Given the description of an element on the screen output the (x, y) to click on. 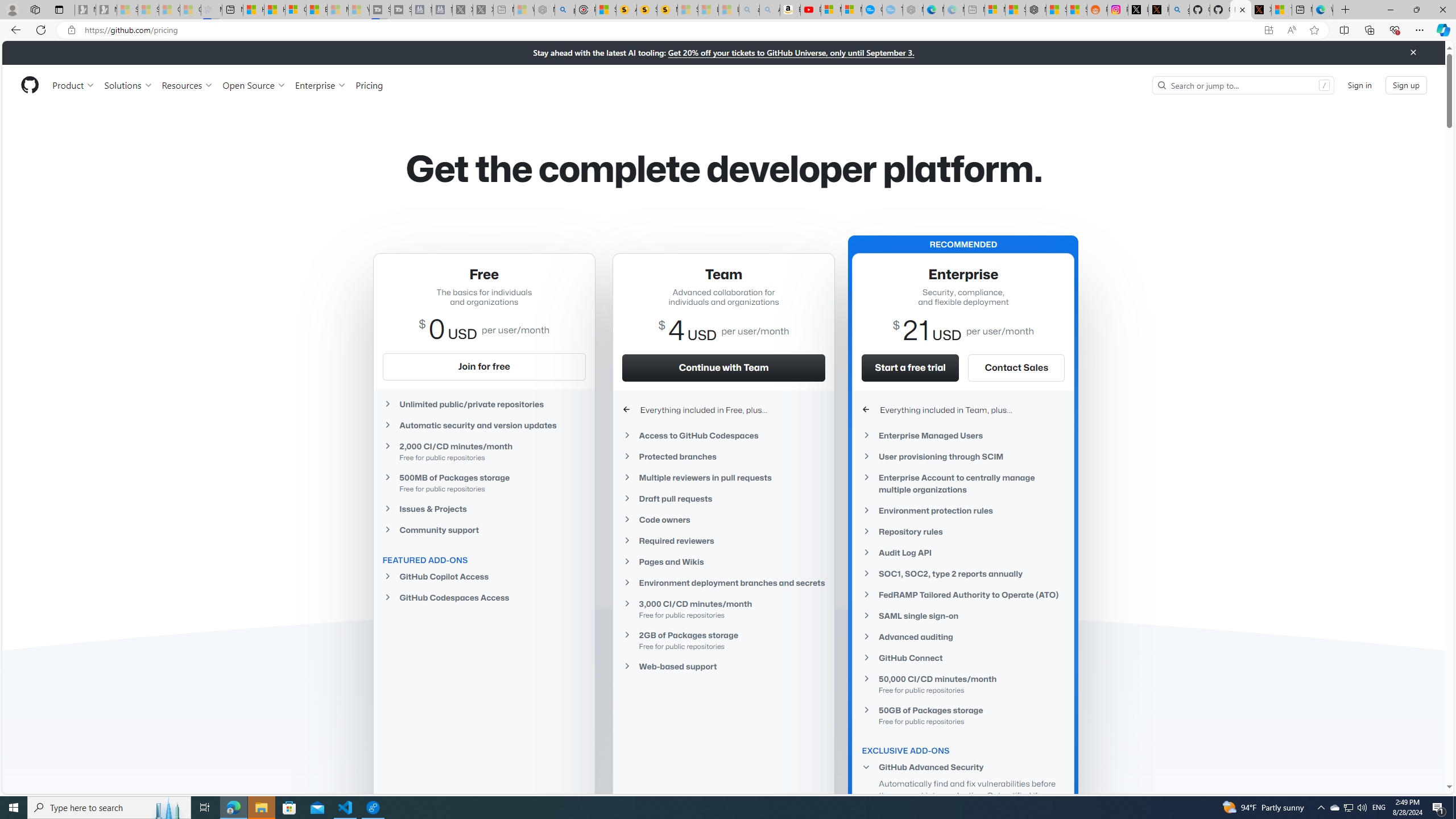
Protected branches (723, 456)
Advanced auditing (963, 636)
User provisioning through SCIM (963, 456)
Issues & Projects (483, 508)
Code owners (723, 519)
GitHub Connect (963, 658)
Wildlife - MSN - Sleeping (523, 9)
Multiple reviewers in pull requests (723, 477)
SAML single sign-on (963, 615)
Enterprise Managed Users (963, 435)
User provisioning through SCIM (963, 456)
